Given the description of an element on the screen output the (x, y) to click on. 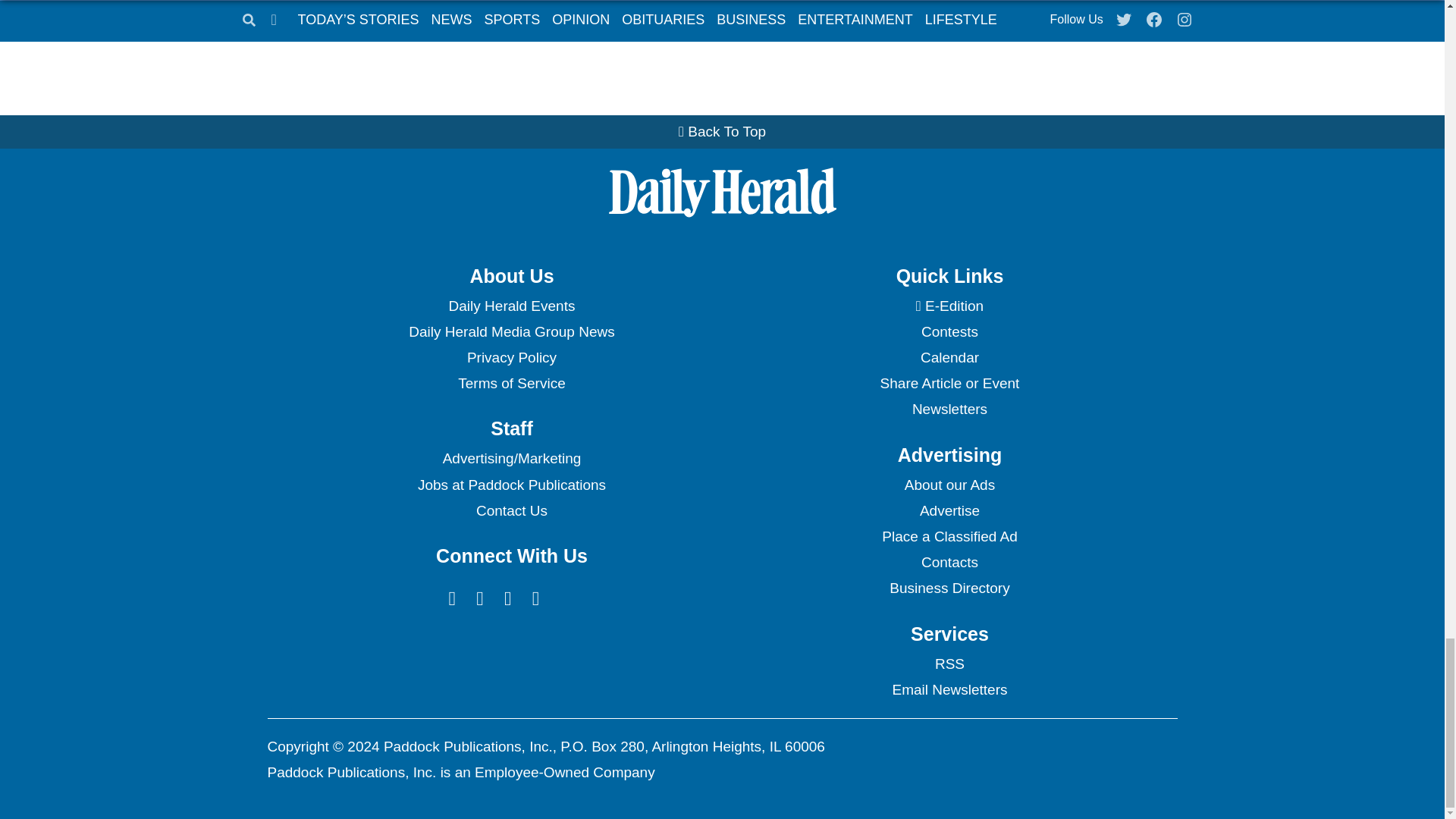
Contact Us (511, 510)
Privacy Policy (511, 357)
Jobs at Paddock Publications (511, 484)
Daily Herald Media Group News (511, 331)
Terms of Service (511, 383)
Contests (949, 331)
Daily Herald Digital Newspaper (949, 306)
Daily Herald Events (511, 306)
